Given the description of an element on the screen output the (x, y) to click on. 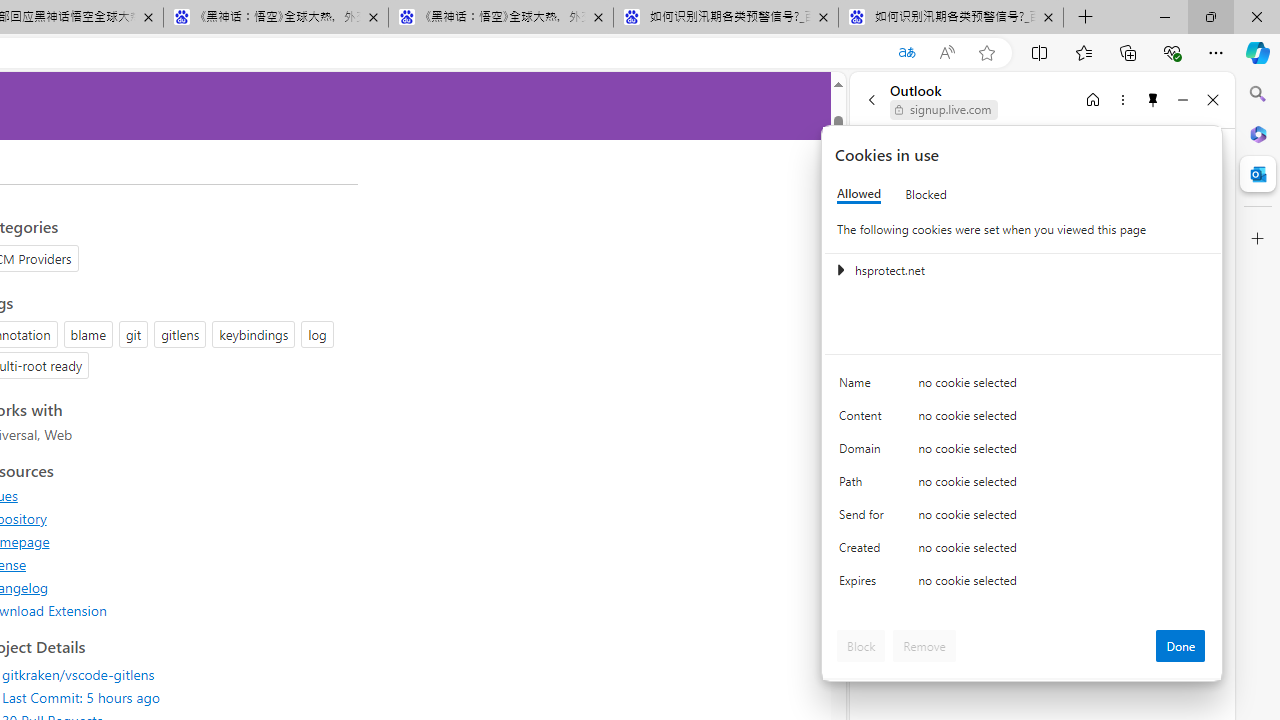
Path (864, 485)
Done (1179, 645)
Class: c0153 c0157 (1023, 584)
Content (864, 420)
Class: c0153 c0157 c0154 (1023, 386)
Domain (864, 452)
Block (861, 645)
no cookie selected (1062, 585)
Send for (864, 518)
Blocked (925, 193)
Expires (864, 585)
Created (864, 552)
Allowed (859, 193)
Name (864, 387)
Remove (924, 645)
